Given the description of an element on the screen output the (x, y) to click on. 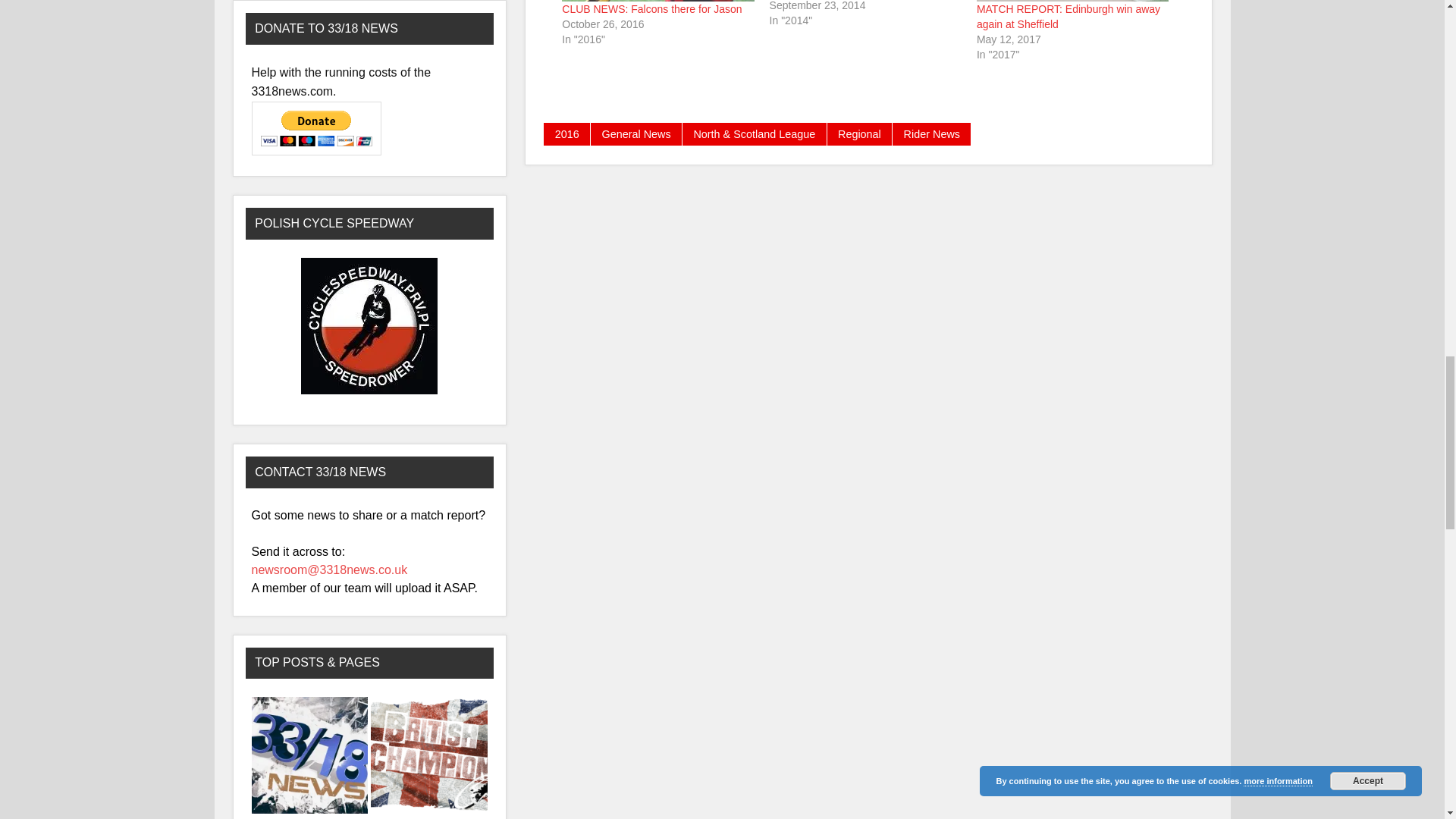
CLUB NEWS: Falcons there for Jason (651, 9)
MATCH REPORT: Edinburgh win away again at Sheffield (1068, 16)
BRITISH CLUB CHAMPIONSHIPS: Full Results (429, 755)
MATCH REPORT: Match at Redbraes goes down to the wire (873, 13)
